Given the description of an element on the screen output the (x, y) to click on. 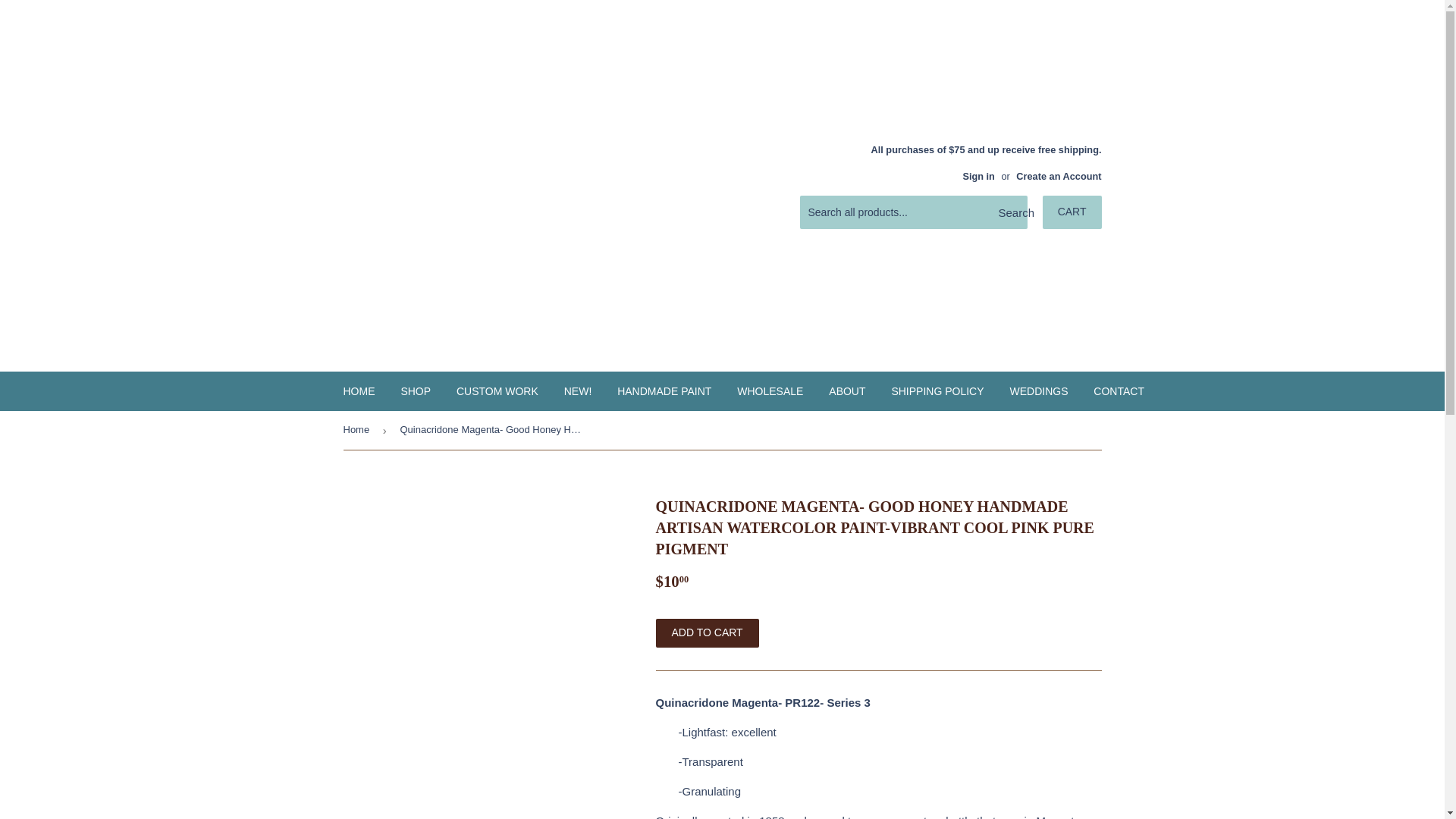
ABOUT (846, 391)
SHOP (415, 391)
HANDMADE PAINT (663, 391)
CART (1072, 212)
HOME (359, 391)
WHOLESALE (769, 391)
WEDDINGS (1037, 391)
Create an Account (1058, 175)
Sign in (978, 175)
CUSTOM WORK (497, 391)
